Given the description of an element on the screen output the (x, y) to click on. 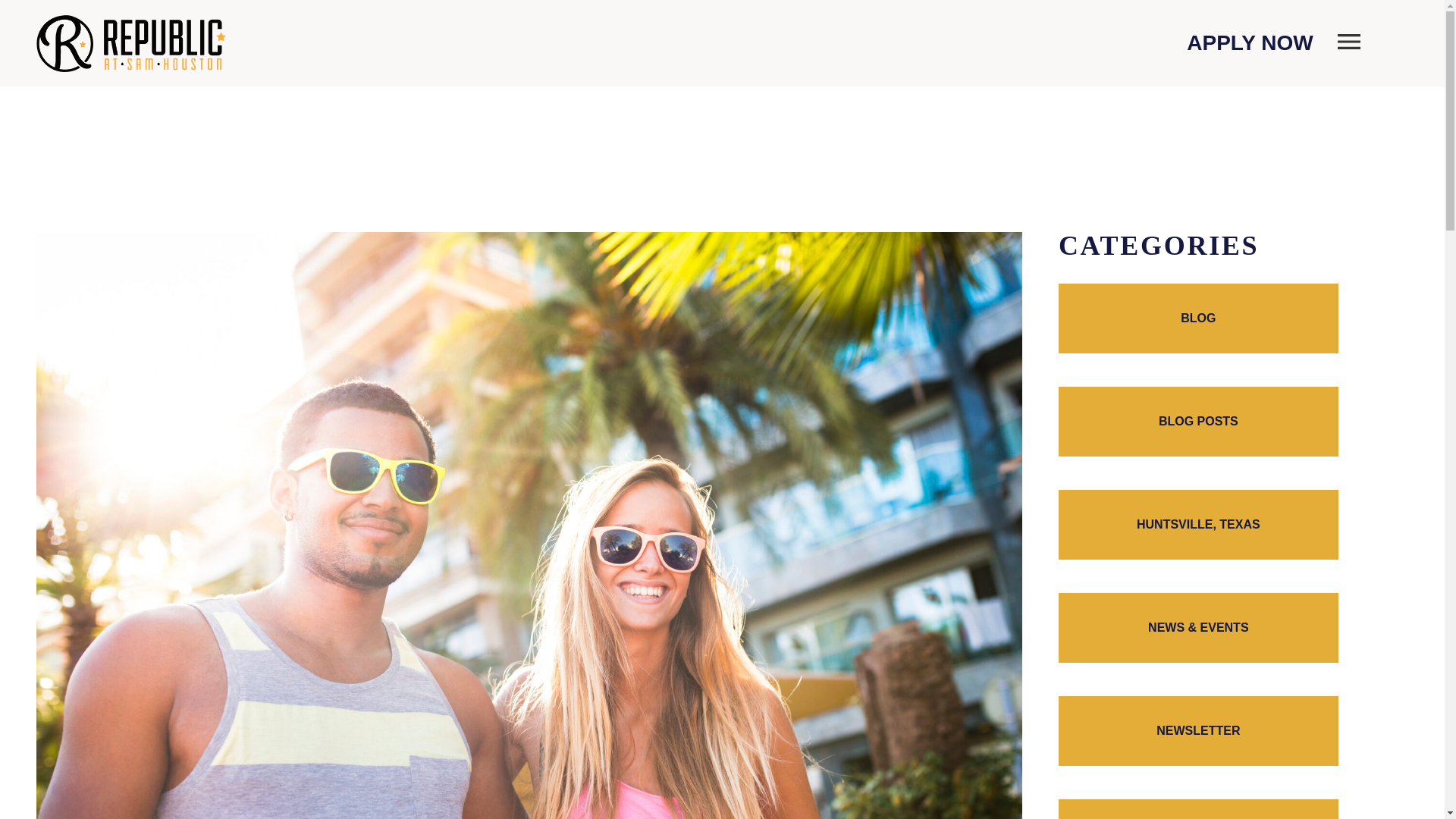
BLOG POSTS (1198, 421)
APPLY NOW (1249, 43)
NEWSLETTER (1198, 730)
external link opens in a new tab (1249, 43)
BLOG (1198, 317)
HUNTSVILLE, TEXAS (1198, 524)
SAM HOUSTON STATE UNIVERSITY (1198, 809)
